Given the description of an element on the screen output the (x, y) to click on. 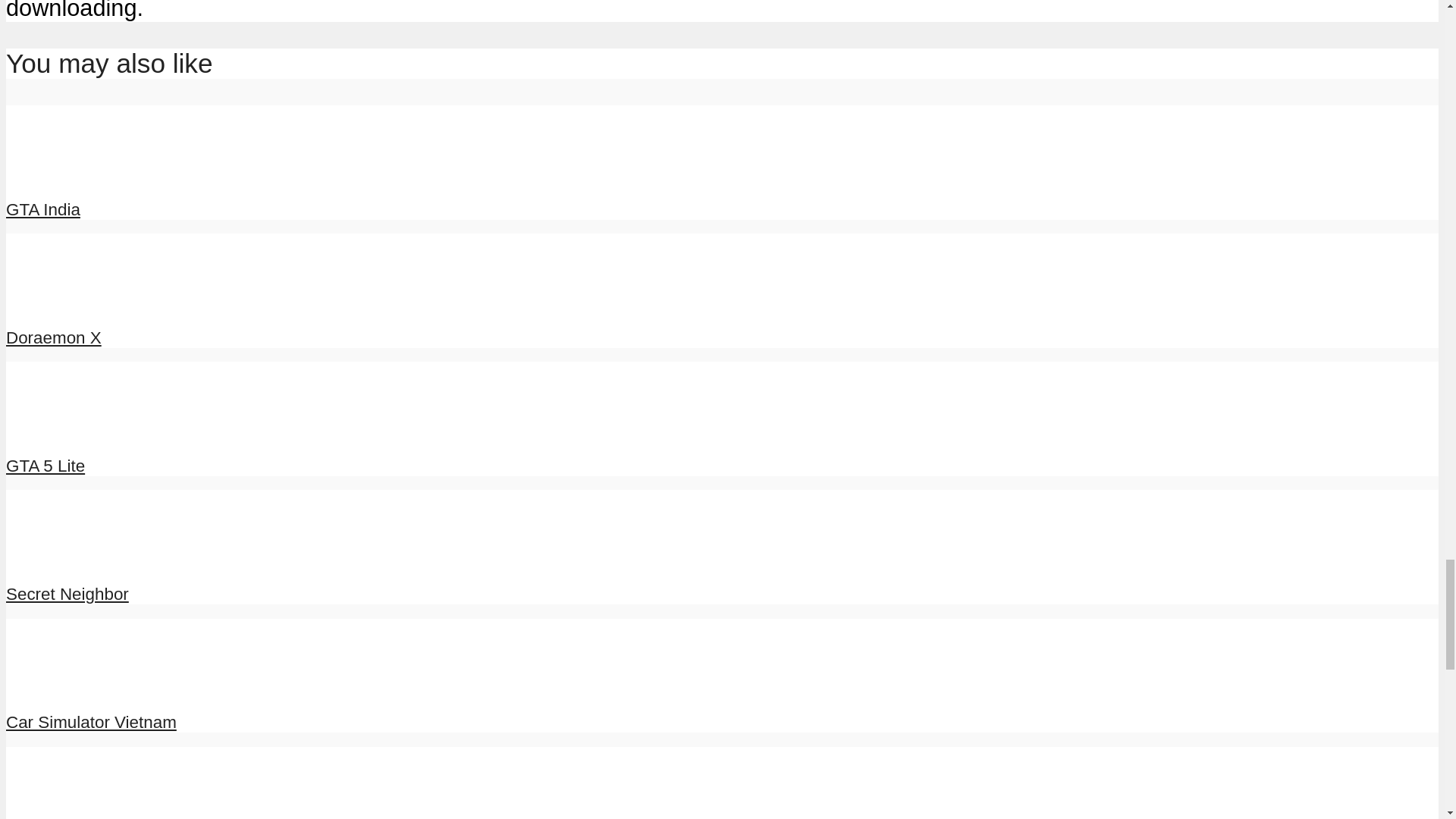
Car Simulator Vietnam (90, 722)
Secret Neighbor (67, 593)
GTA India (42, 209)
Summertime Saga Mod (60, 812)
Car Simulator Vietnam (90, 722)
GTA 5 Lite (44, 465)
GTA India (42, 209)
Secret Neighbor (67, 593)
Car Simulator Vietnam (60, 687)
GTA 5 Lite (60, 430)
GTA India (60, 174)
Doraemon X (53, 337)
Secret Neighbor (60, 558)
GTA 5 Lite (44, 465)
Doraemon X (53, 337)
